Given the description of an element on the screen output the (x, y) to click on. 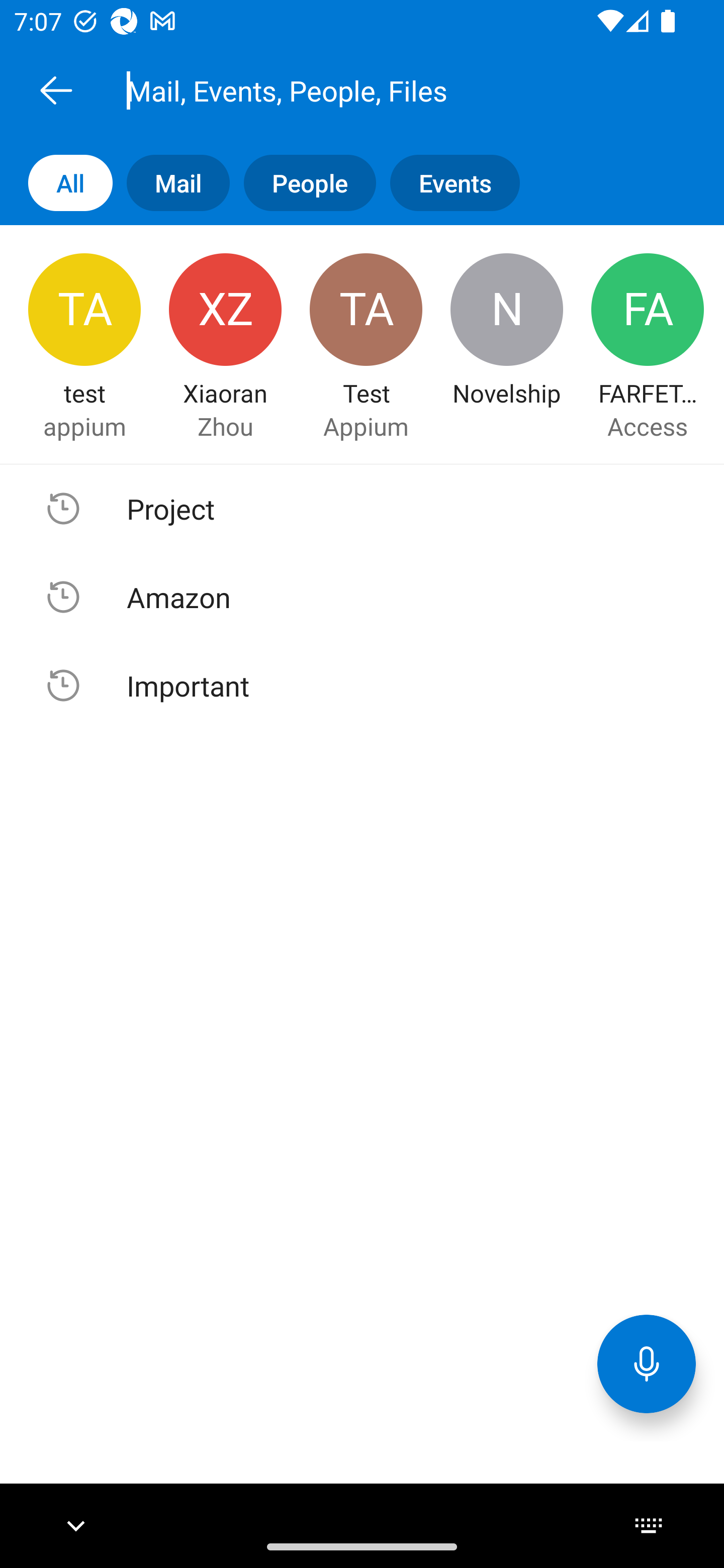
Back (55, 89)
Mail, Events, People, Files (384, 89)
Mail (170, 183)
People (302, 183)
Events (447, 183)
Suggested search , Text, Project Project (362, 508)
Suggested search , Text, Amazon Amazon (362, 597)
Suggested search , Text, Important Important (362, 685)
Voice Assistant (646, 1362)
